Given the description of an element on the screen output the (x, y) to click on. 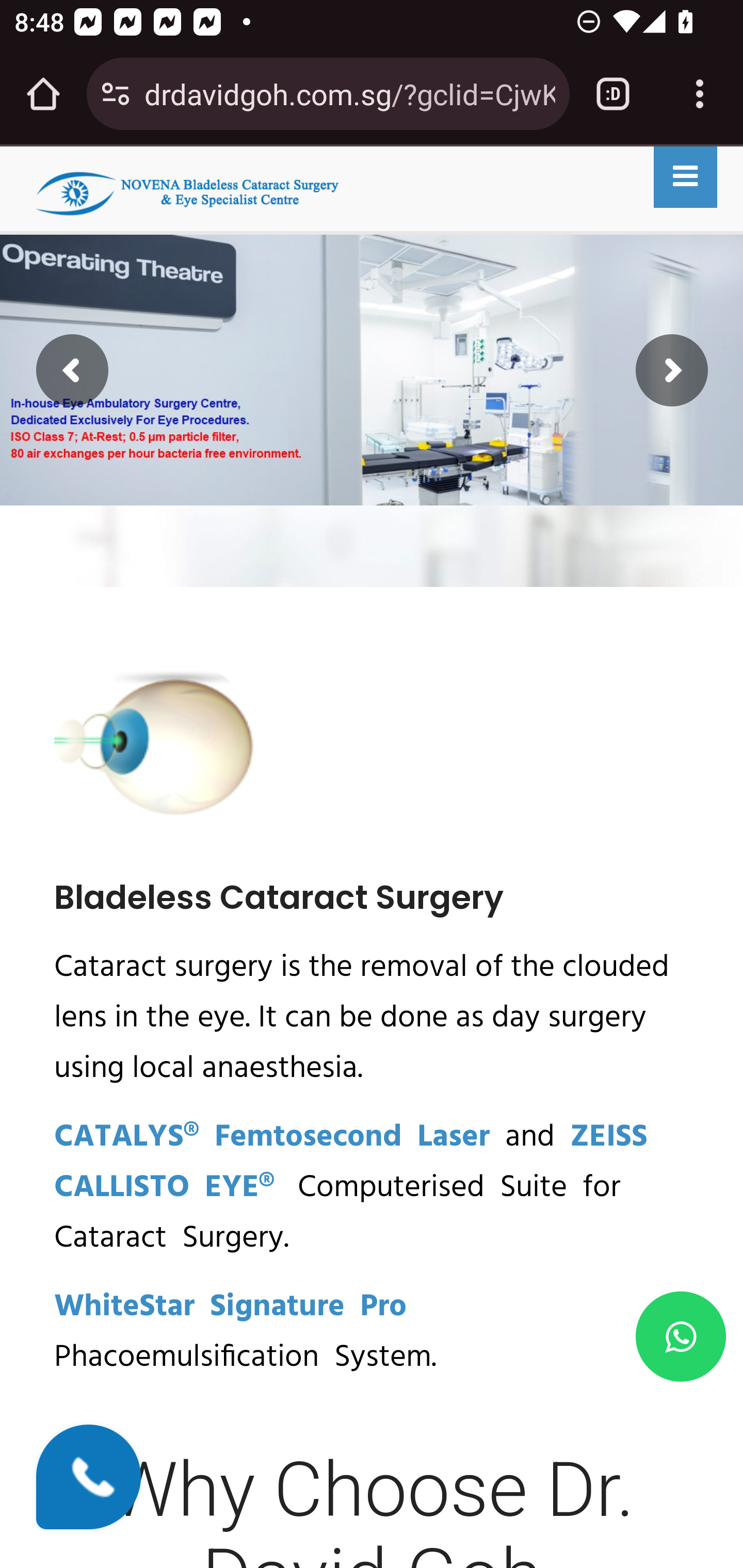
Open the home page (43, 93)
Connection is secure (115, 93)
Switch or close tabs (612, 93)
Customize and control Google Chrome (699, 93)
Bladeless Bladeless Bladeless (185, 185)
Bladeless Cataract Surgery (278, 896)
 (681, 1336)
